Given the description of an element on the screen output the (x, y) to click on. 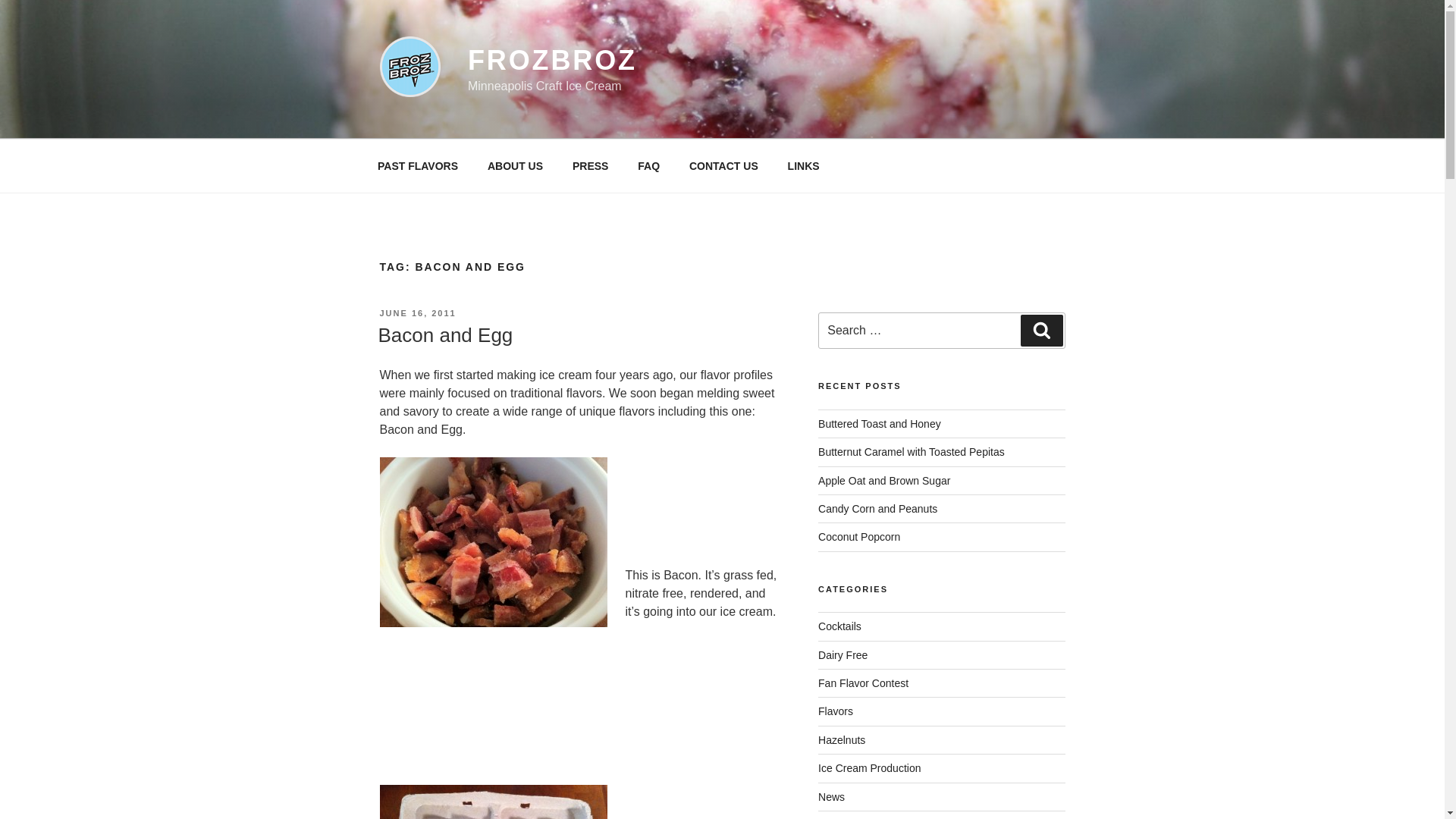
News (831, 797)
Bacon and Egg (444, 334)
FROZBROZ (552, 60)
Coconut Popcorn (858, 536)
PAST FLAVORS (417, 165)
Hazelnuts (841, 739)
PRESS (590, 165)
Fan Flavor Contest (863, 683)
ABOUT US (515, 165)
Apple Oat and Brown Sugar (884, 480)
Candy Corn and Peanuts (877, 508)
Search (1041, 330)
Butternut Caramel with Toasted Pepitas (911, 451)
Ice Cream Production (869, 767)
LINKS (803, 165)
